Given the description of an element on the screen output the (x, y) to click on. 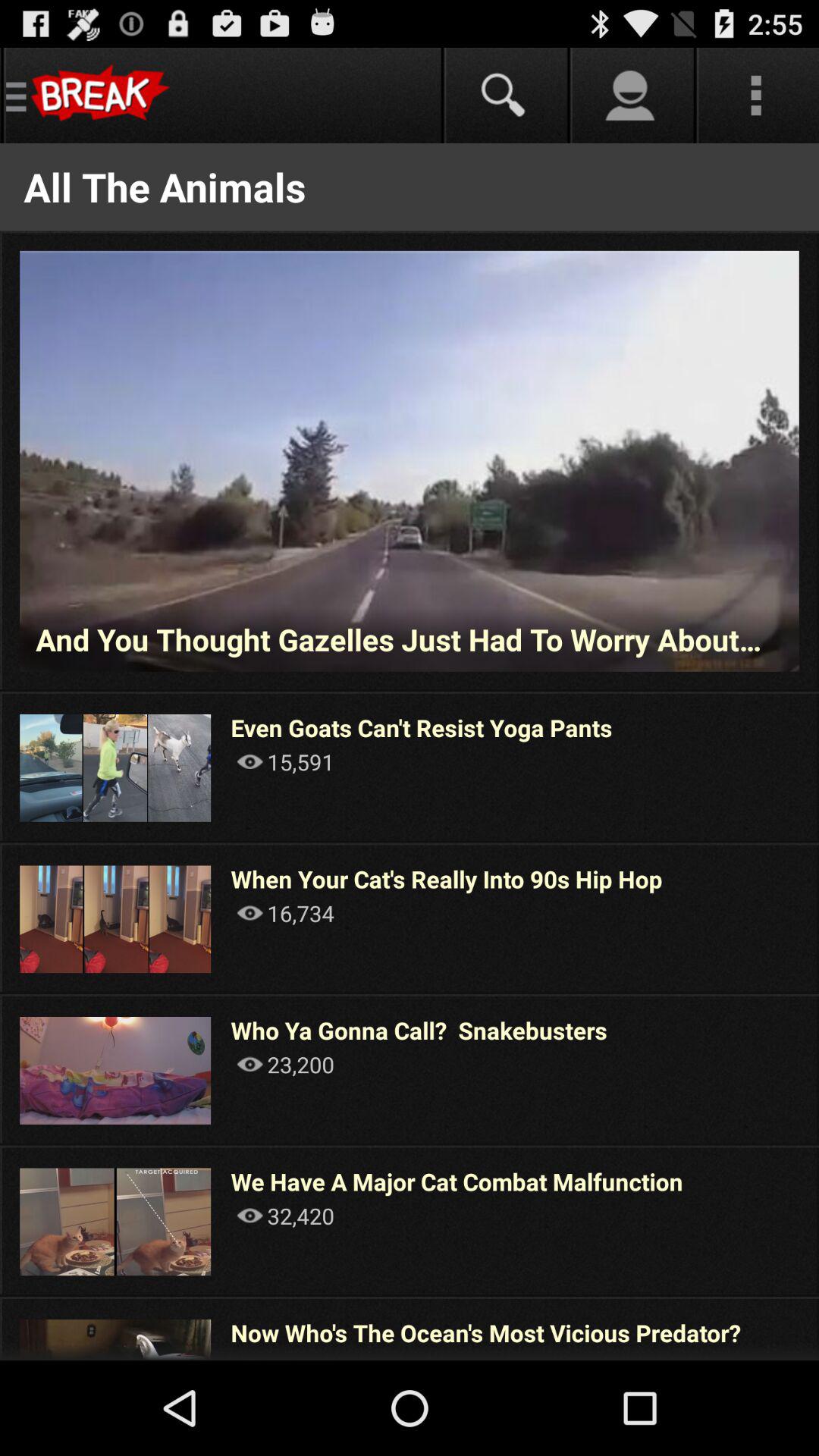
scroll to when your cat icon (446, 878)
